Given the description of an element on the screen output the (x, y) to click on. 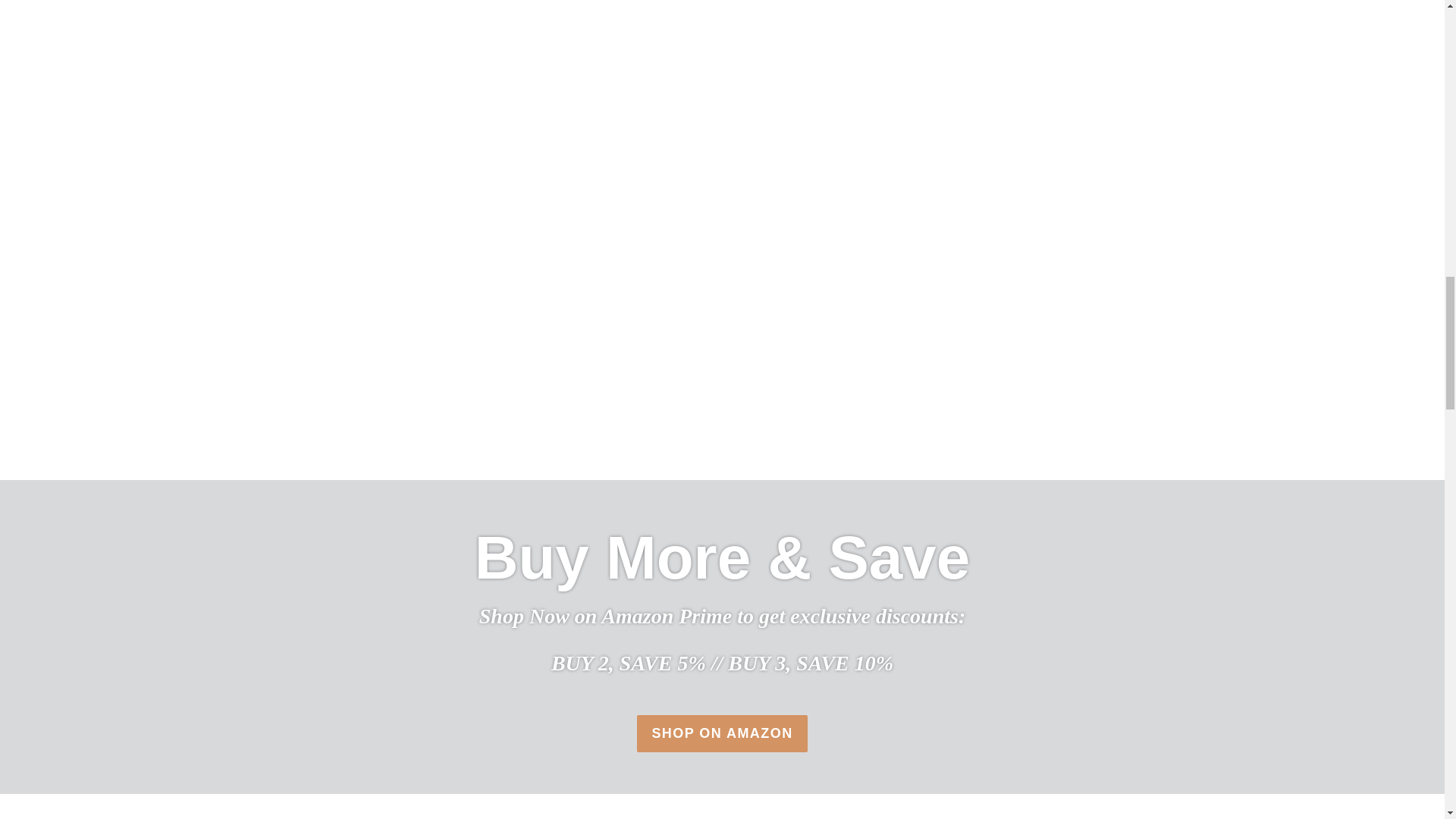
SHOP ON AMAZON (721, 733)
